Given the description of an element on the screen output the (x, y) to click on. 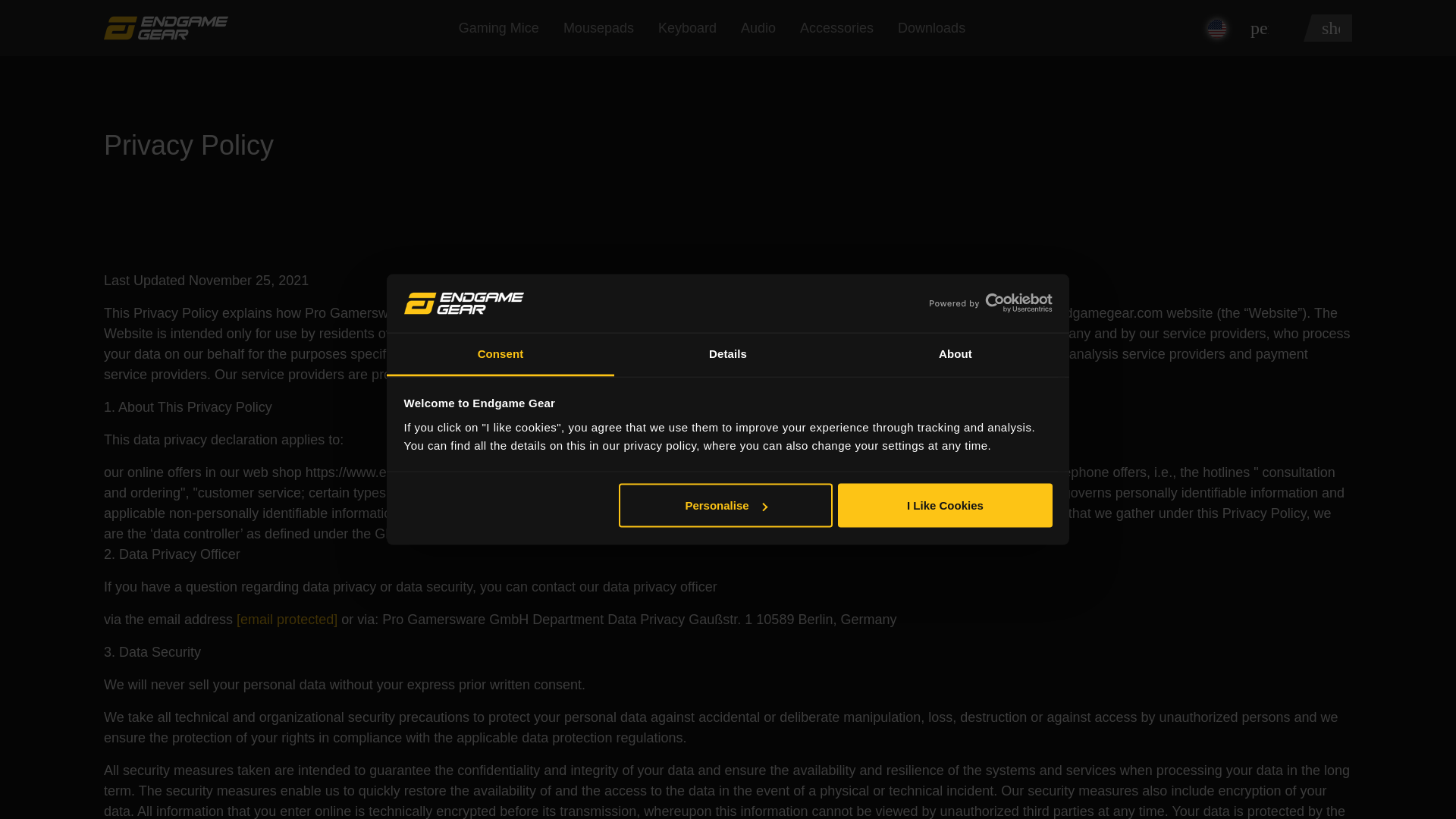
Consent (500, 353)
About (954, 353)
Details (727, 353)
